Given the description of an element on the screen output the (x, y) to click on. 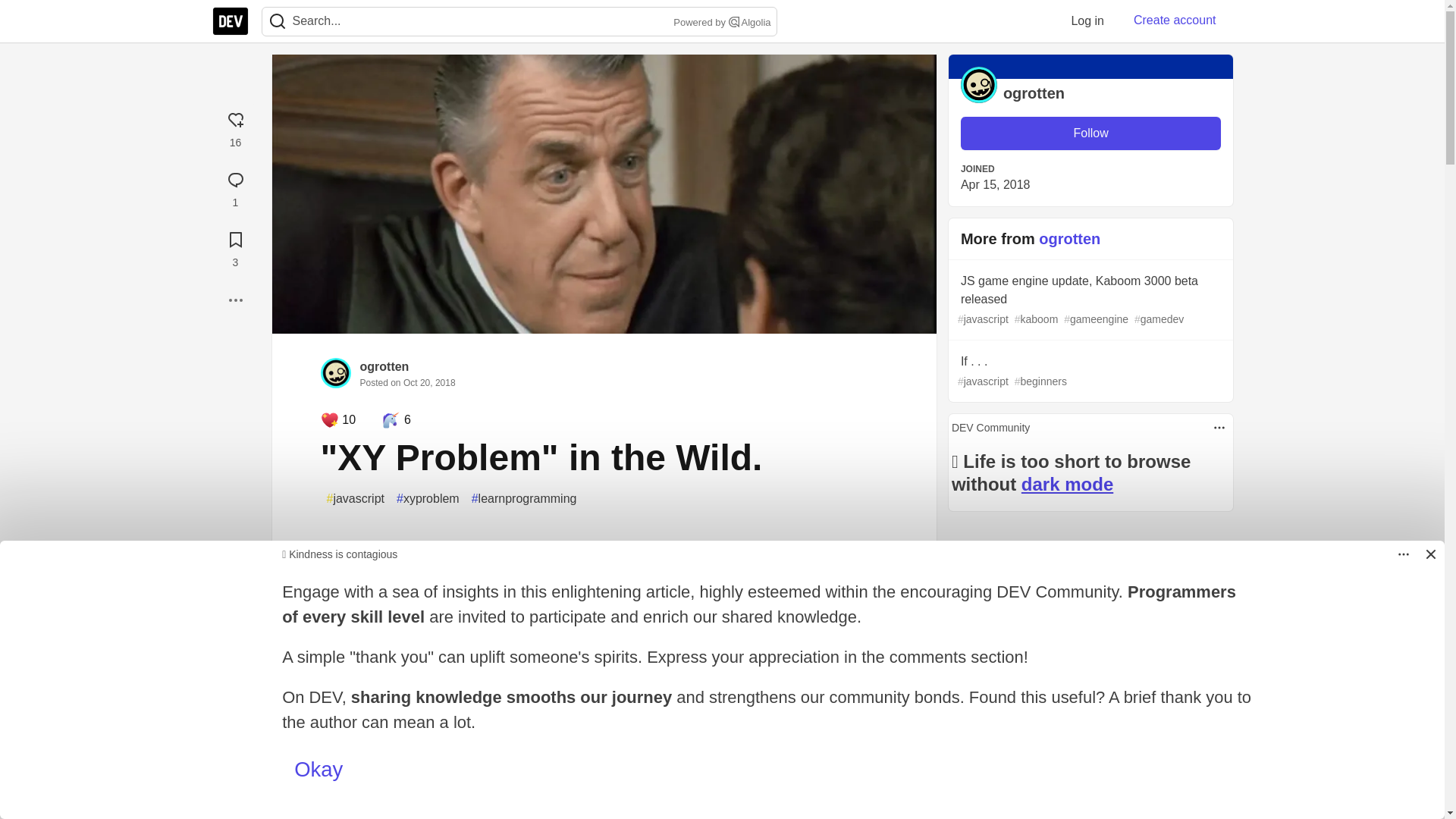
1 (235, 187)
ogrotten (384, 366)
More... (234, 299)
Dropdown menu (1218, 427)
Create account (1174, 20)
Powered by Algolia (720, 22)
More... (234, 300)
Dropdown menu (1403, 554)
XY Problem (506, 546)
PhaserJS (470, 690)
Log in (1087, 20)
3 (235, 247)
Close (1430, 554)
Saturday, October 20, 2018 at 5:58:13 PM (429, 382)
